Given the description of an element on the screen output the (x, y) to click on. 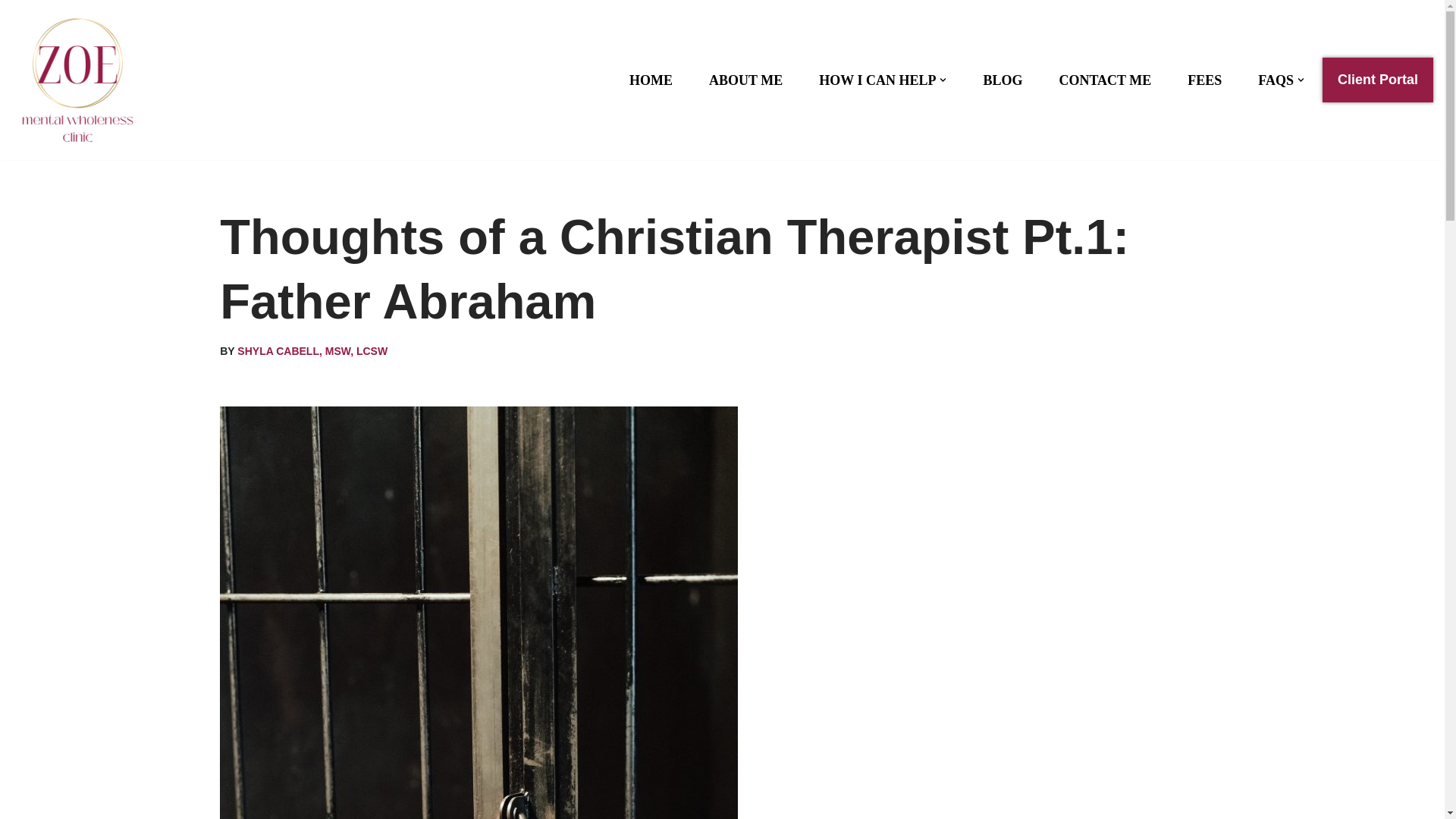
FEES (1204, 79)
CONTACT ME (1104, 79)
Client Portal (1377, 79)
BLOG (1002, 79)
Posts by Shyla Cabell, MSW, LCSW (312, 350)
HOW I CAN HELP (877, 79)
Skip to content (11, 31)
FAQS (1275, 79)
HOME (650, 79)
